Given the description of an element on the screen output the (x, y) to click on. 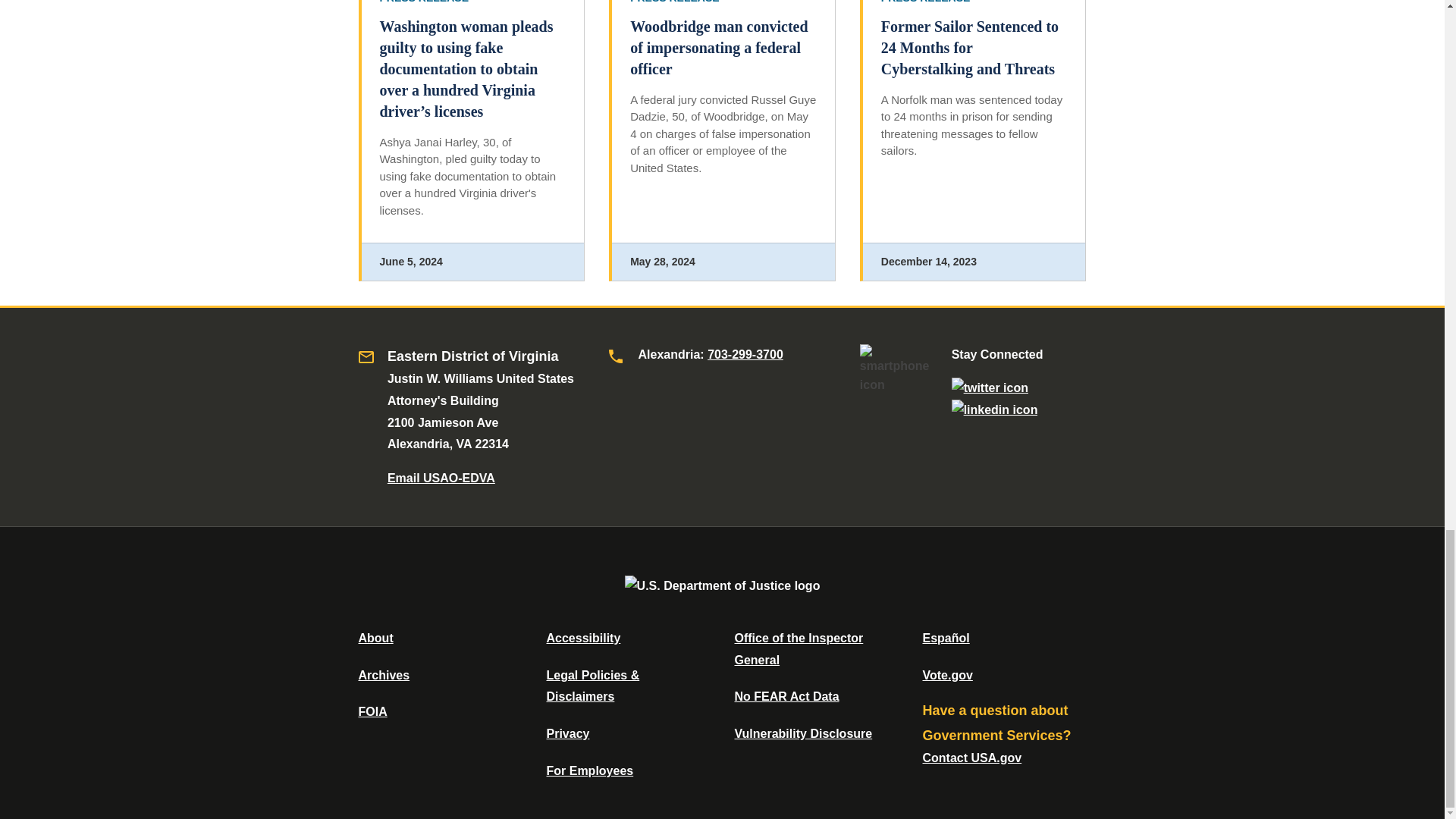
Office of Information Policy (372, 711)
For Employees (589, 770)
Accessibility Statement (583, 637)
Department of Justice Archive (383, 675)
Legal Policies and Disclaimers (592, 686)
About DOJ (375, 637)
Data Posted Pursuant To The No Fear Act (785, 696)
